Given the description of an element on the screen output the (x, y) to click on. 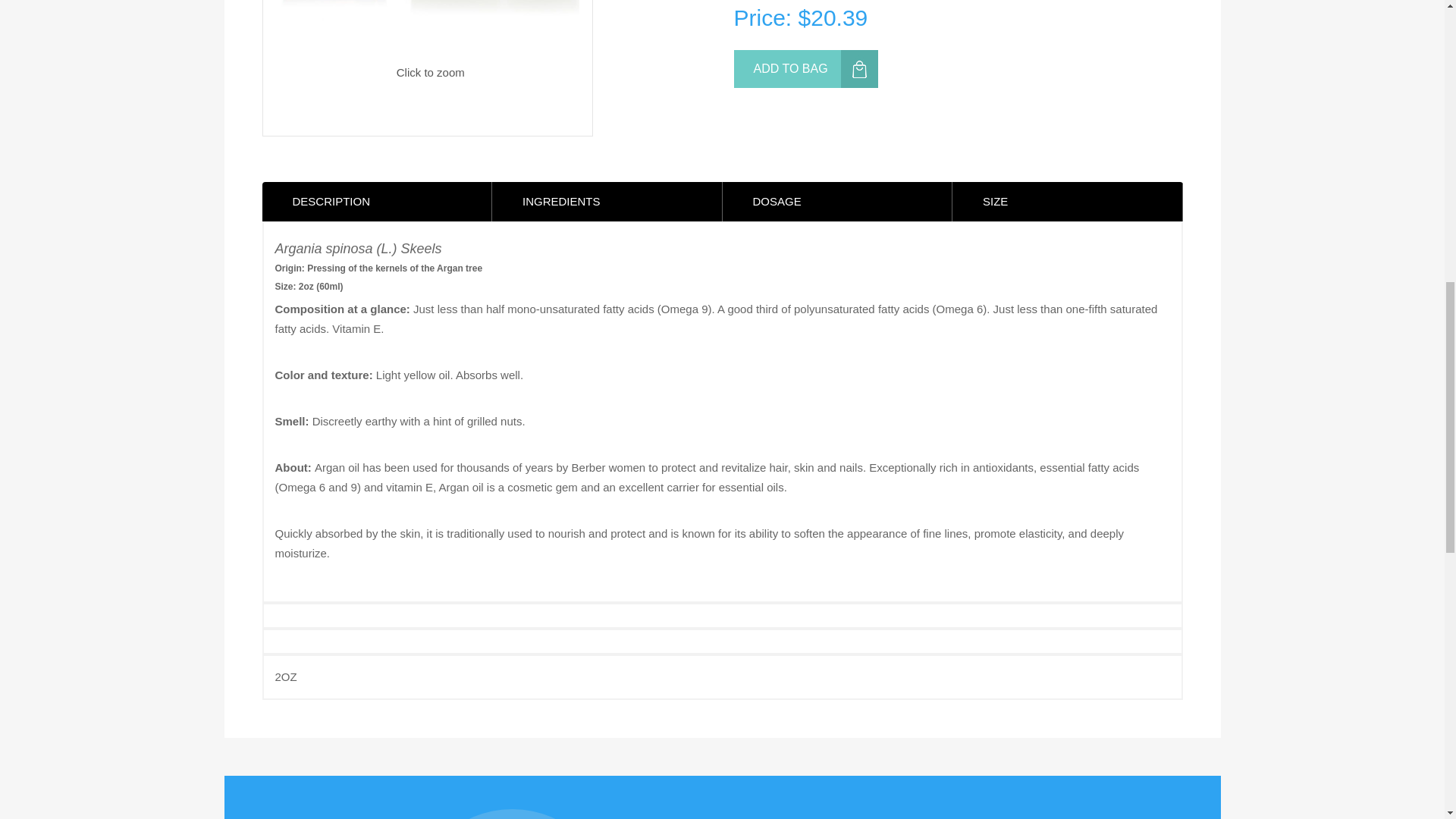
ADD TO BAG (805, 68)
